Given the description of an element on the screen output the (x, y) to click on. 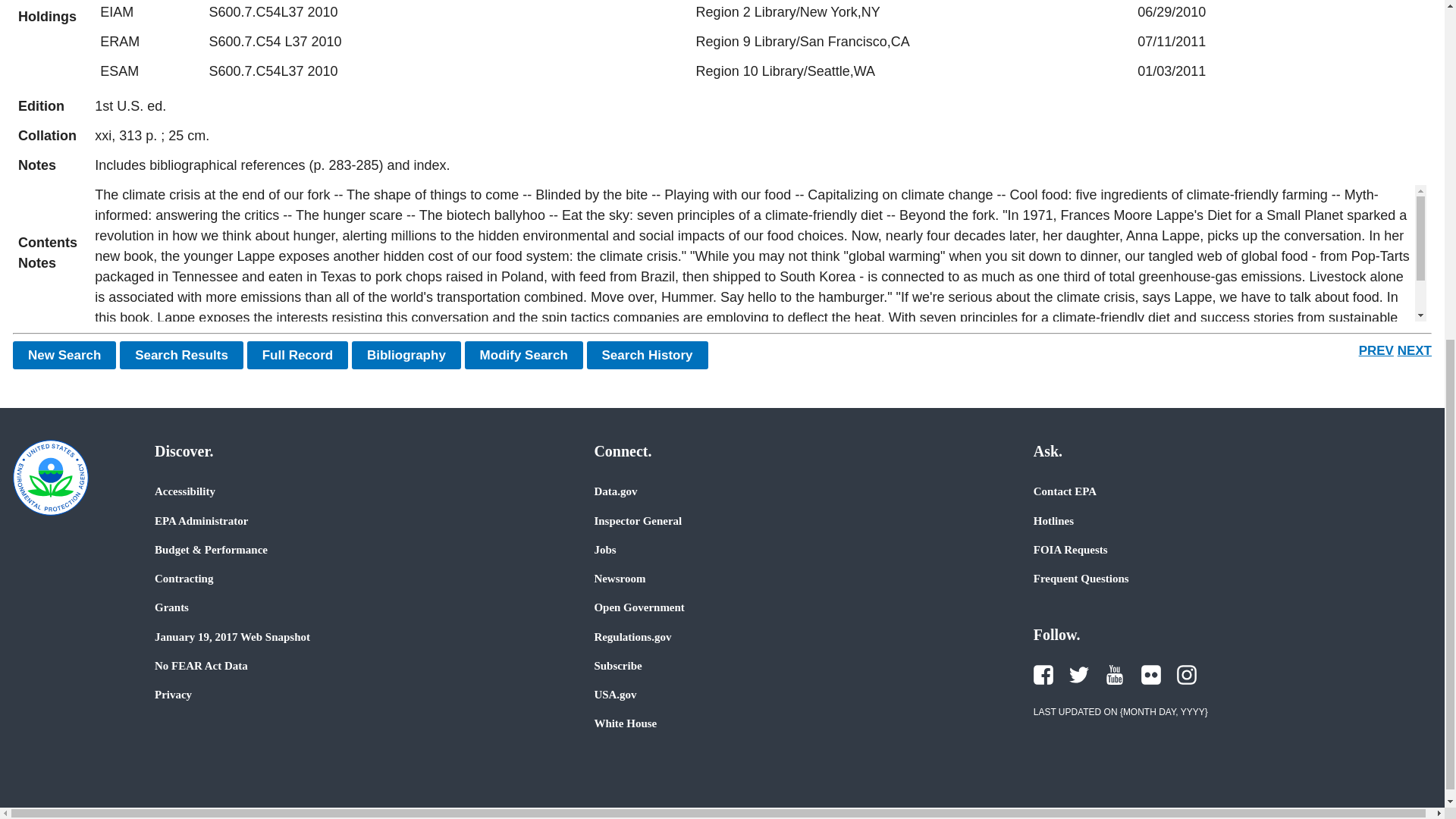
Bibliography (406, 355)
Inspector General (637, 520)
Contracting (183, 578)
Create a New Search (64, 355)
Subscribe (618, 665)
Search History (646, 355)
Regulations.gov (632, 636)
Contact EPA (1064, 490)
Accessibility (184, 490)
EPA Administrator (200, 520)
No FEAR Act Data (200, 665)
White House (625, 723)
FOIA Requests (1070, 549)
Search Results (181, 355)
